Given the description of an element on the screen output the (x, y) to click on. 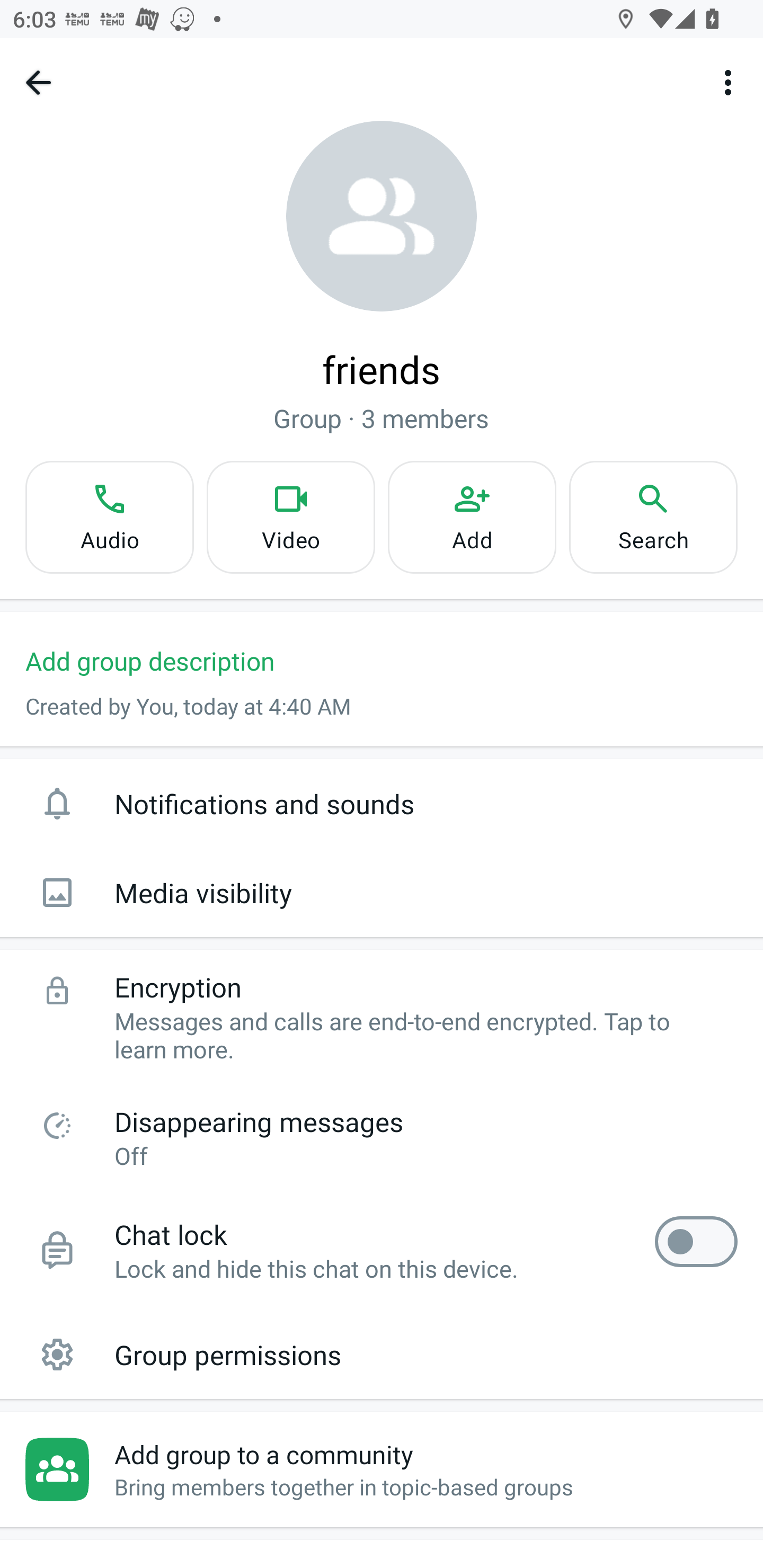
Navigate up (38, 82)
More options (731, 81)
Profile photo (381, 216)
Audio (109, 516)
Video (290, 516)
Add (471, 516)
Search (653, 516)
Notifications and sounds (381, 803)
Media visibility (381, 892)
Disappearing messages Off (381, 1137)
Group permissions (381, 1353)
